Given the description of an element on the screen output the (x, y) to click on. 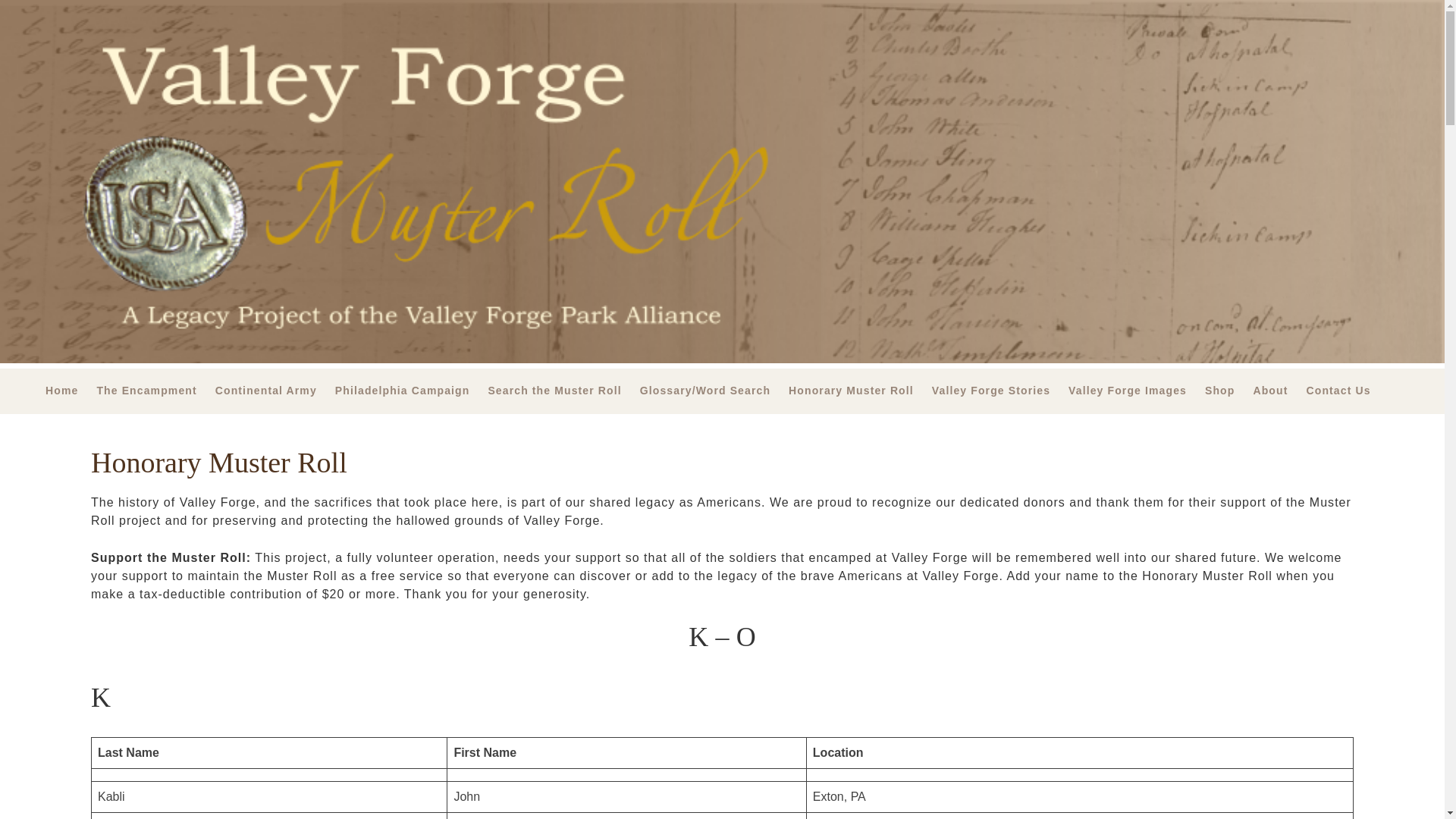
About (1279, 391)
Philadelphia Campaign (410, 391)
Contact Us (1347, 391)
The Encampment (155, 391)
Honorary Muster Roll (860, 391)
Continental Army (274, 391)
Valley Forge Stories (999, 391)
Home (70, 391)
Valley Forge Images (1136, 391)
Shop (1228, 391)
